Given the description of an element on the screen output the (x, y) to click on. 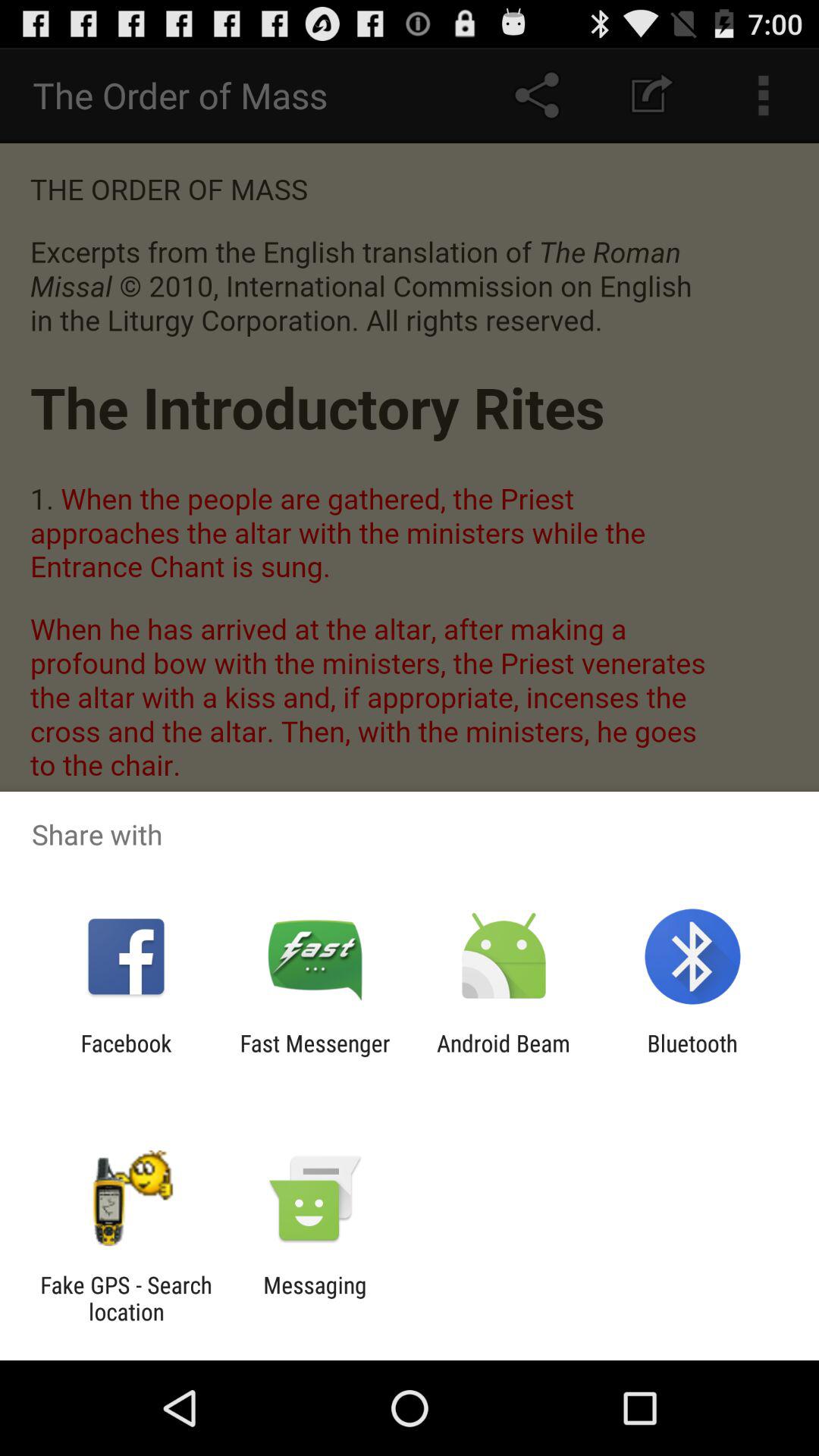
turn on the item to the left of bluetooth item (503, 1056)
